Given the description of an element on the screen output the (x, y) to click on. 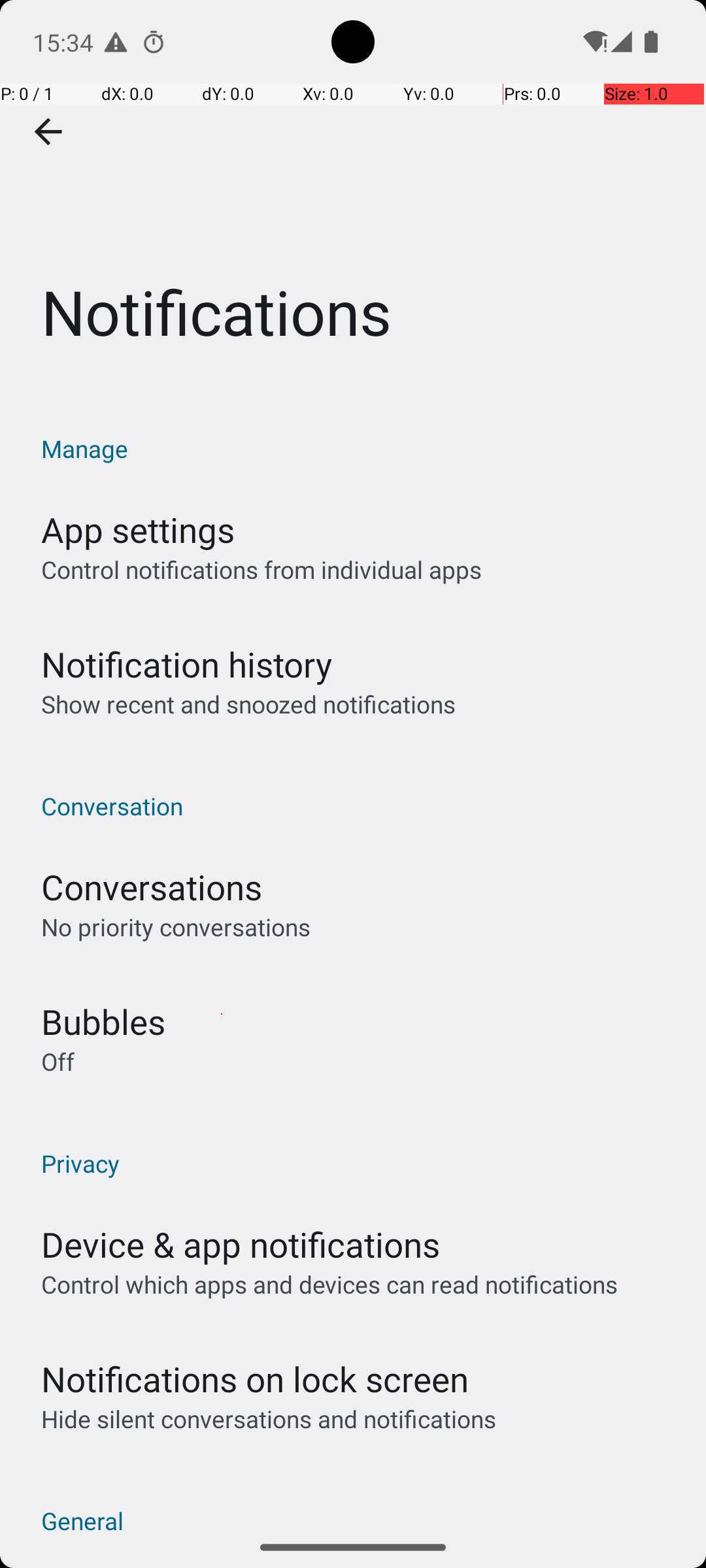
Manage Element type: android.widget.TextView (359, 448)
App settings Element type: android.widget.TextView (137, 529)
Control notifications from individual apps Element type: android.widget.TextView (261, 569)
Notification history Element type: android.widget.TextView (186, 663)
Show recent and snoozed notifications Element type: android.widget.TextView (248, 703)
Conversation Element type: android.widget.TextView (359, 805)
Conversations Element type: android.widget.TextView (151, 886)
No priority conversations Element type: android.widget.TextView (175, 926)
Bubbles Element type: android.widget.TextView (103, 1021)
Privacy Element type: android.widget.TextView (359, 1162)
Device & app notifications Element type: android.widget.TextView (240, 1244)
Control which apps and devices can read notifications Element type: android.widget.TextView (329, 1283)
Notifications on lock screen Element type: android.widget.TextView (254, 1378)
Hide silent conversations and notifications Element type: android.widget.TextView (268, 1418)
Android System notification:  Element type: android.widget.ImageView (115, 41)
